Given the description of an element on the screen output the (x, y) to click on. 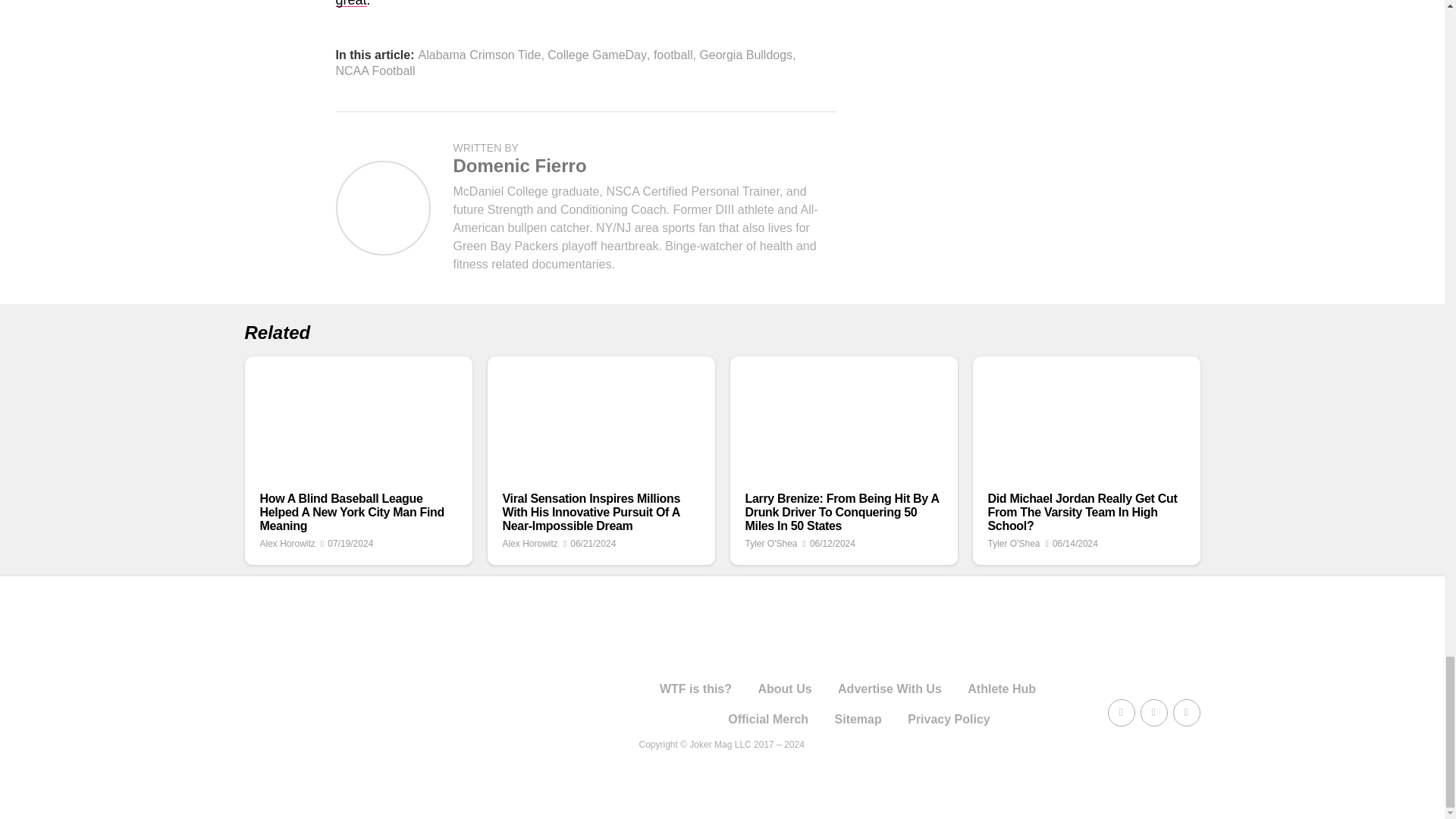
Posts by Tyler O'Shea (770, 543)
Posts by Domenic Fierro (519, 165)
Posts by Tyler O'Shea (1013, 543)
Posts by Alex Horowitz (286, 543)
Posts by Alex Horowitz (529, 543)
